Given the description of an element on the screen output the (x, y) to click on. 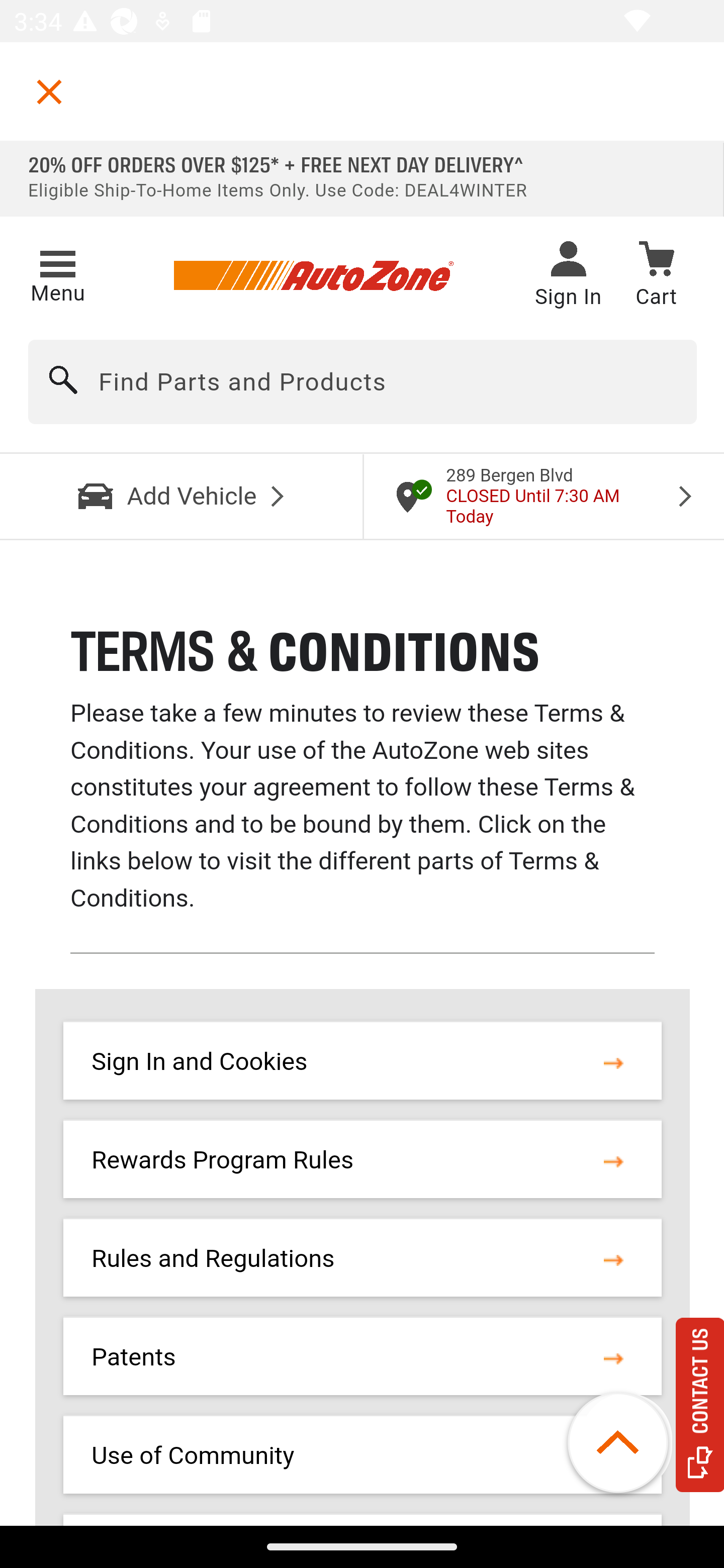
 (49, 91)
Menu (57, 273)
Sign In (567, 276)
AutoZone Logo (links to homepage) (312, 276)
shopping cart 0 items (655, 277)
Search (63, 382)
Add Vehicle (182, 495)
Sign In and Cookies (199, 1062)
termsAndConditions#loginAndCookies (613, 1062)
Rewards Program Rules (223, 1159)
termsAndConditions#rewardsProgramRules (613, 1159)
Rules and Regulations (213, 1258)
termsAndConditions#rulesAndRegulations (613, 1258)
Contact Us (699, 1404)
Patents (134, 1357)
termsAndConditions#patent (613, 1357)
oval (627, 1443)
Use of Community (193, 1455)
